Given the description of an element on the screen output the (x, y) to click on. 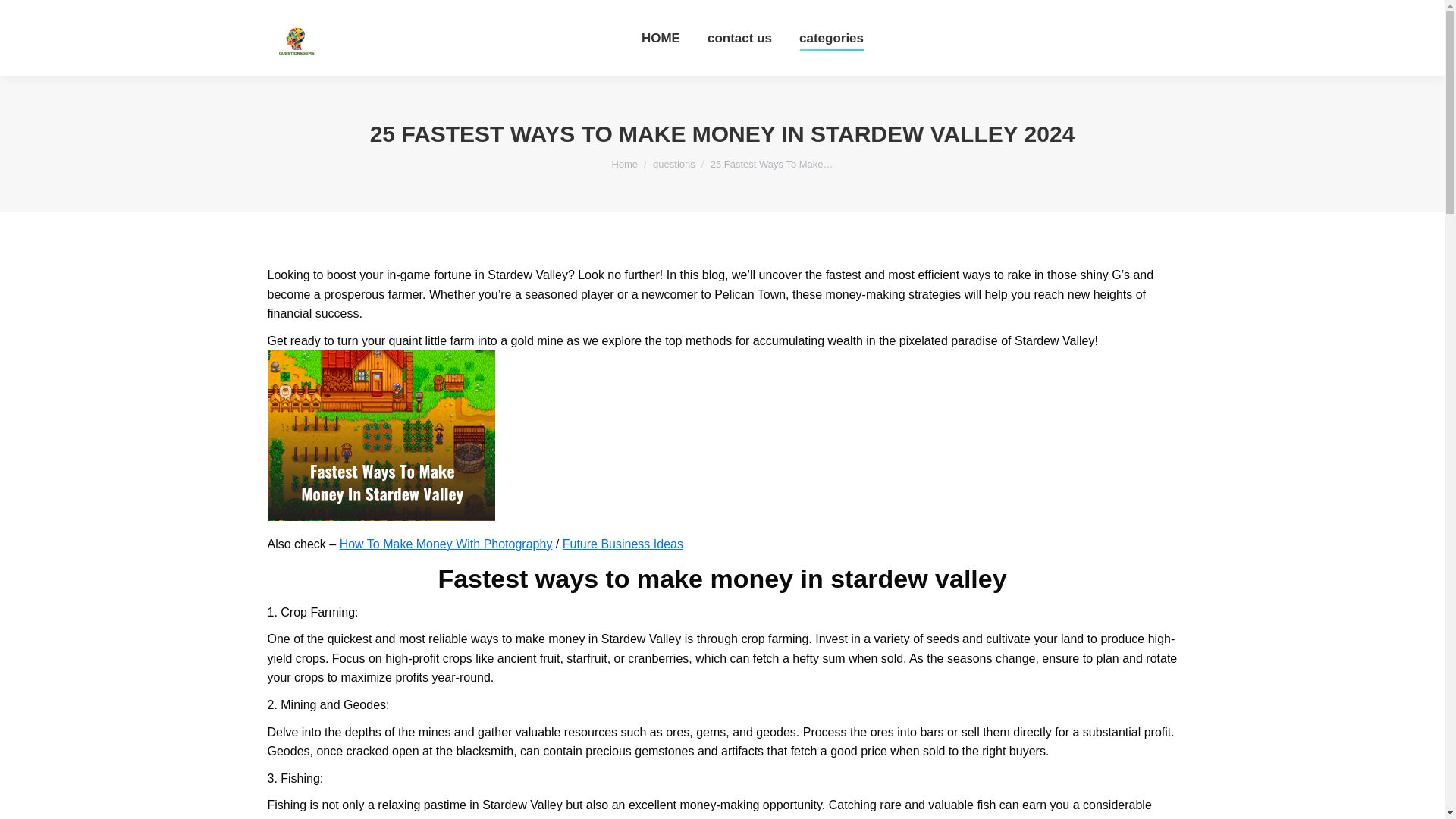
Future Business Ideas (622, 543)
categories (831, 37)
questions (673, 163)
How To Make Money With Photography (446, 543)
questions (673, 163)
Home (624, 163)
HOME (660, 37)
contact us (739, 37)
Home (624, 163)
